Given the description of an element on the screen output the (x, y) to click on. 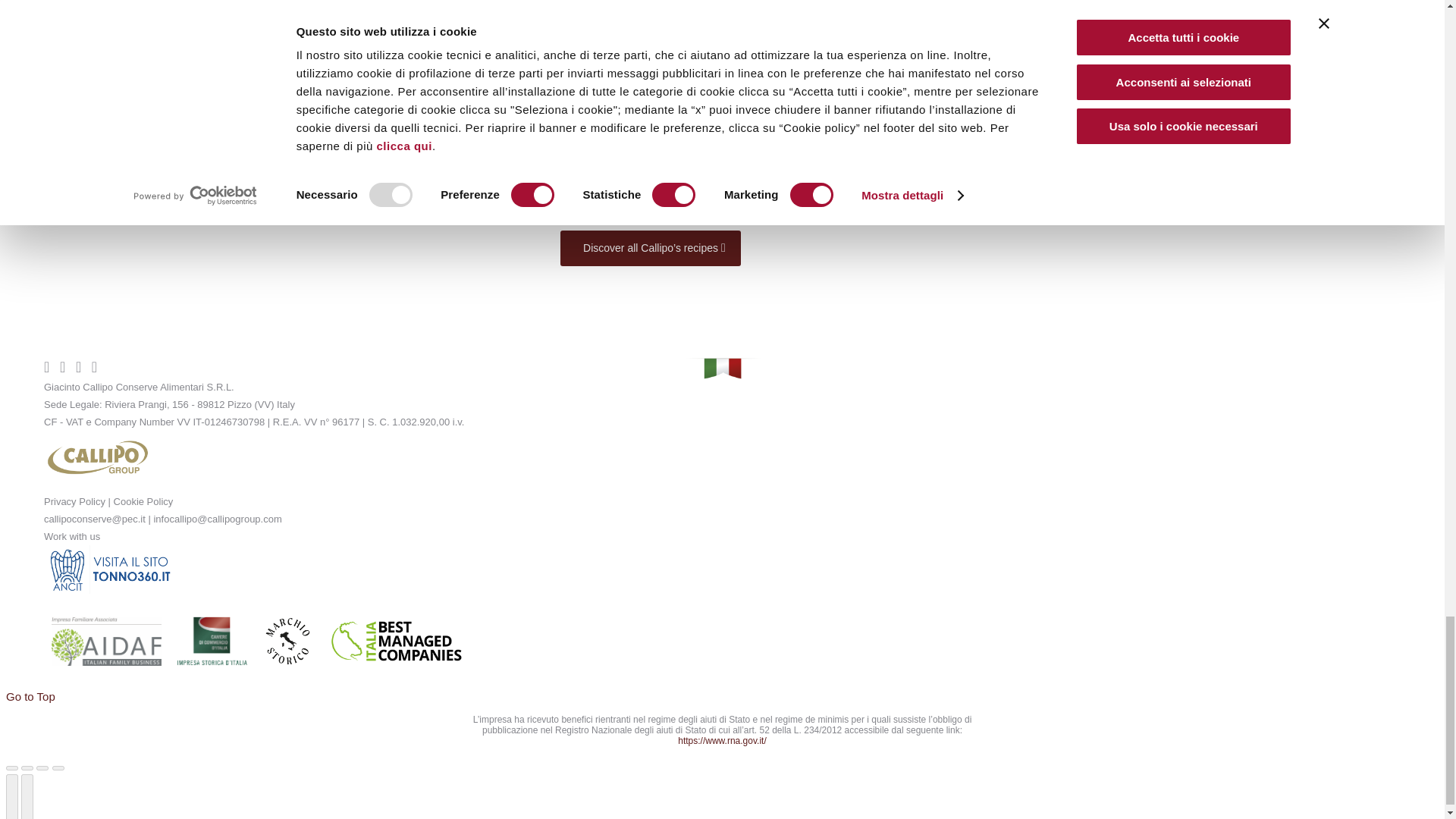
Share (27, 767)
Toggle fullscreen (42, 767)
